Given the description of an element on the screen output the (x, y) to click on. 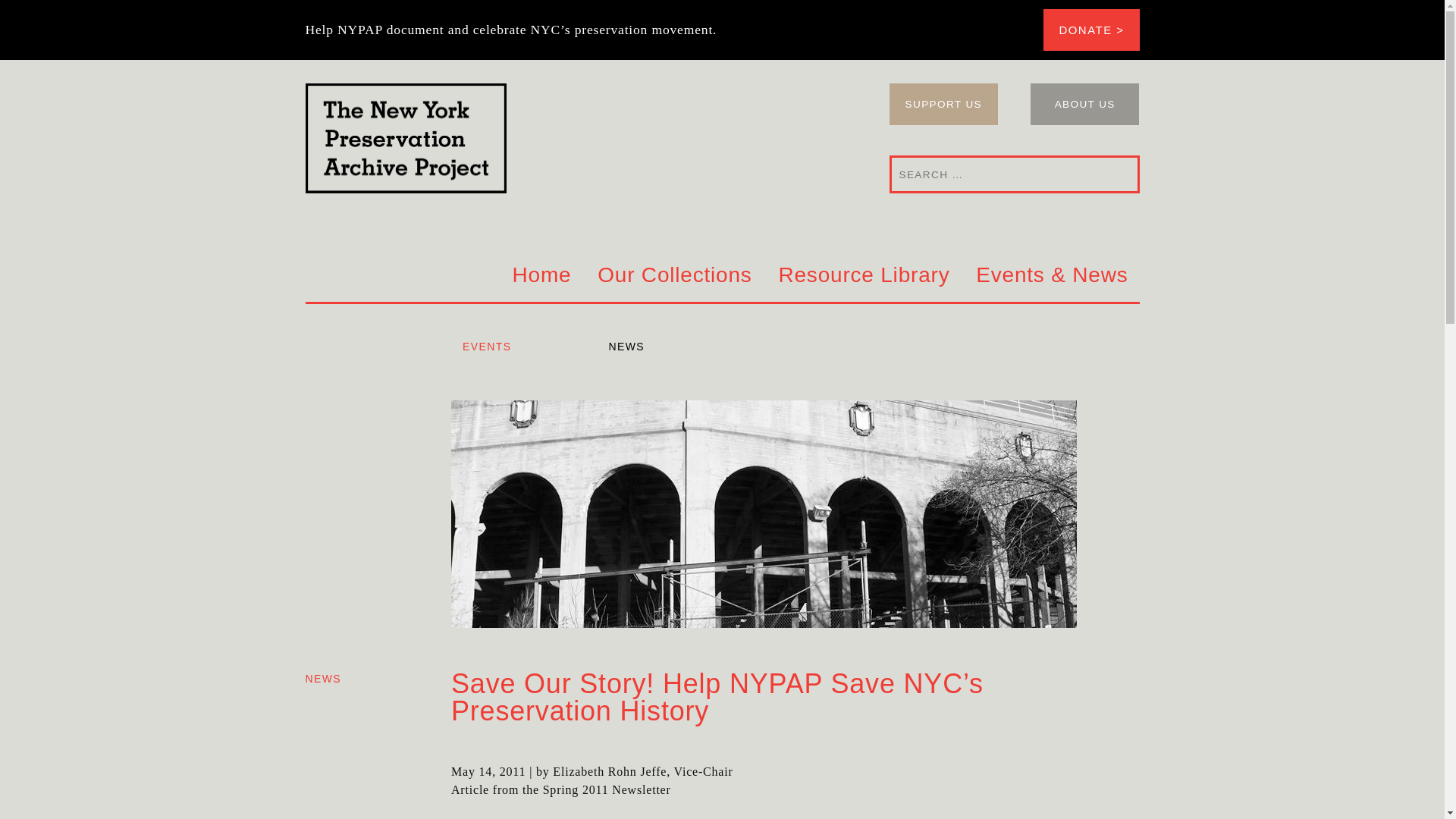
SUPPORT US (942, 104)
Resource Library (863, 276)
NEWS (648, 351)
NYPAP (575, 138)
Our Collections (674, 276)
EVENTS (503, 351)
NEWS (322, 678)
ABOUT US (1085, 104)
Home (541, 276)
